Given the description of an element on the screen output the (x, y) to click on. 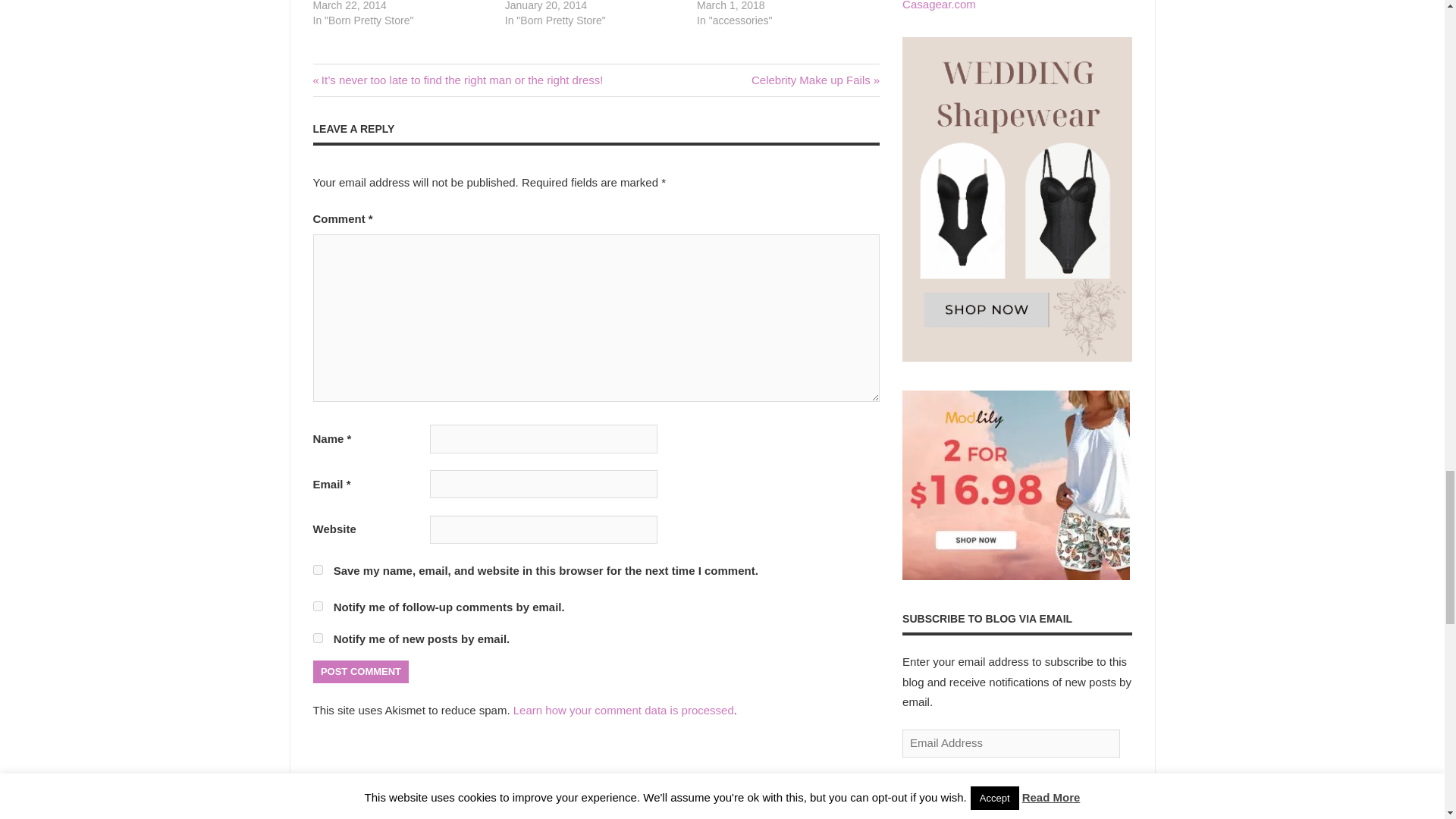
Post Comment (361, 671)
subscribe (317, 605)
subscribe (815, 79)
Learn how your comment data is processed (317, 637)
yes (623, 709)
Post Comment (317, 569)
